Given the description of an element on the screen output the (x, y) to click on. 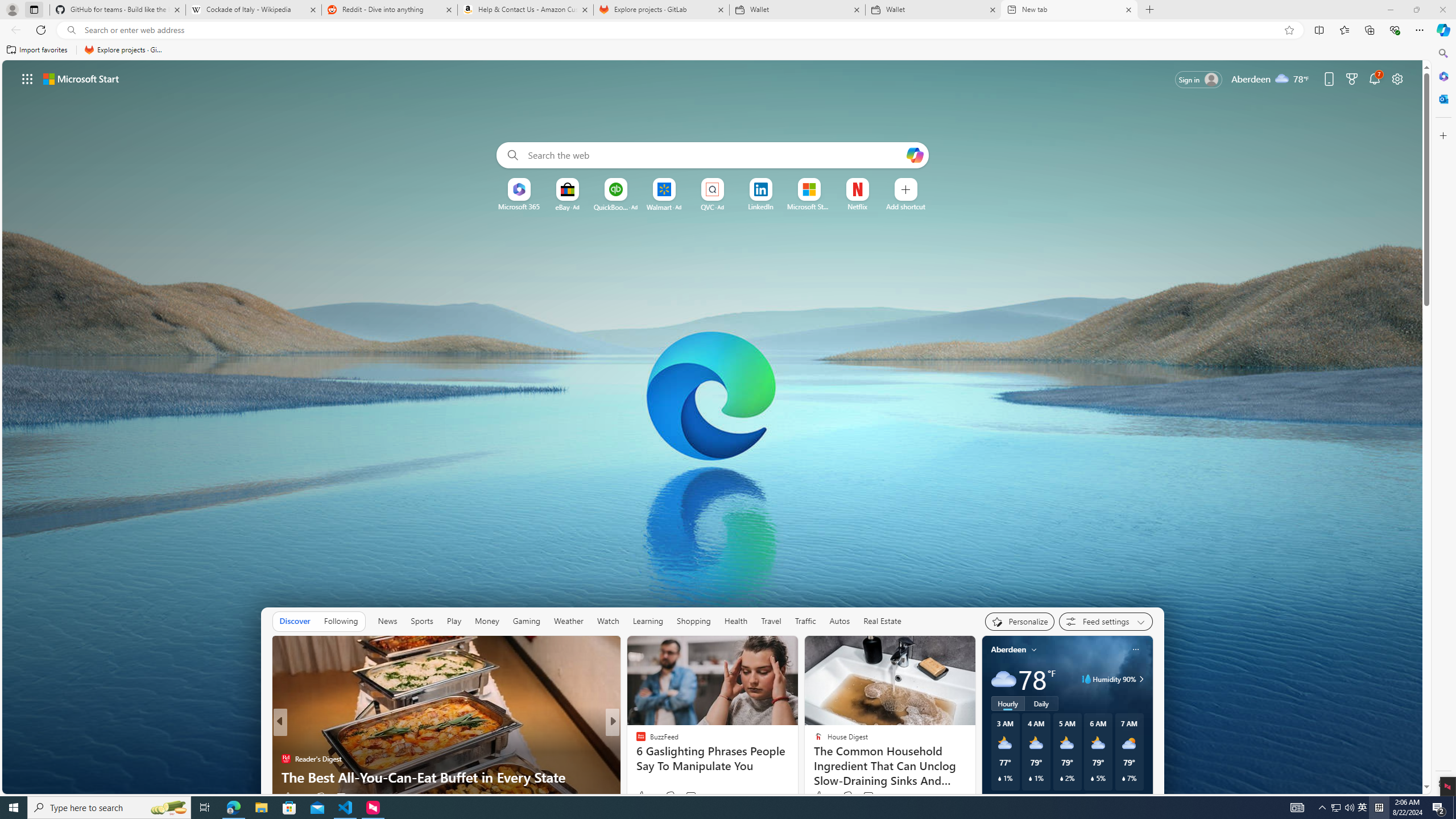
Favorites bar (715, 49)
Side bar (1443, 418)
Start (13, 807)
Page settings (1397, 78)
BuzzFeed (635, 740)
Learning (648, 621)
Play (454, 621)
Weather (569, 621)
Travel (771, 621)
Open Copilot (914, 155)
To get missing image descriptions, open the context menu. (518, 189)
Martha Stewart Living (635, 758)
